Given the description of an element on the screen output the (x, y) to click on. 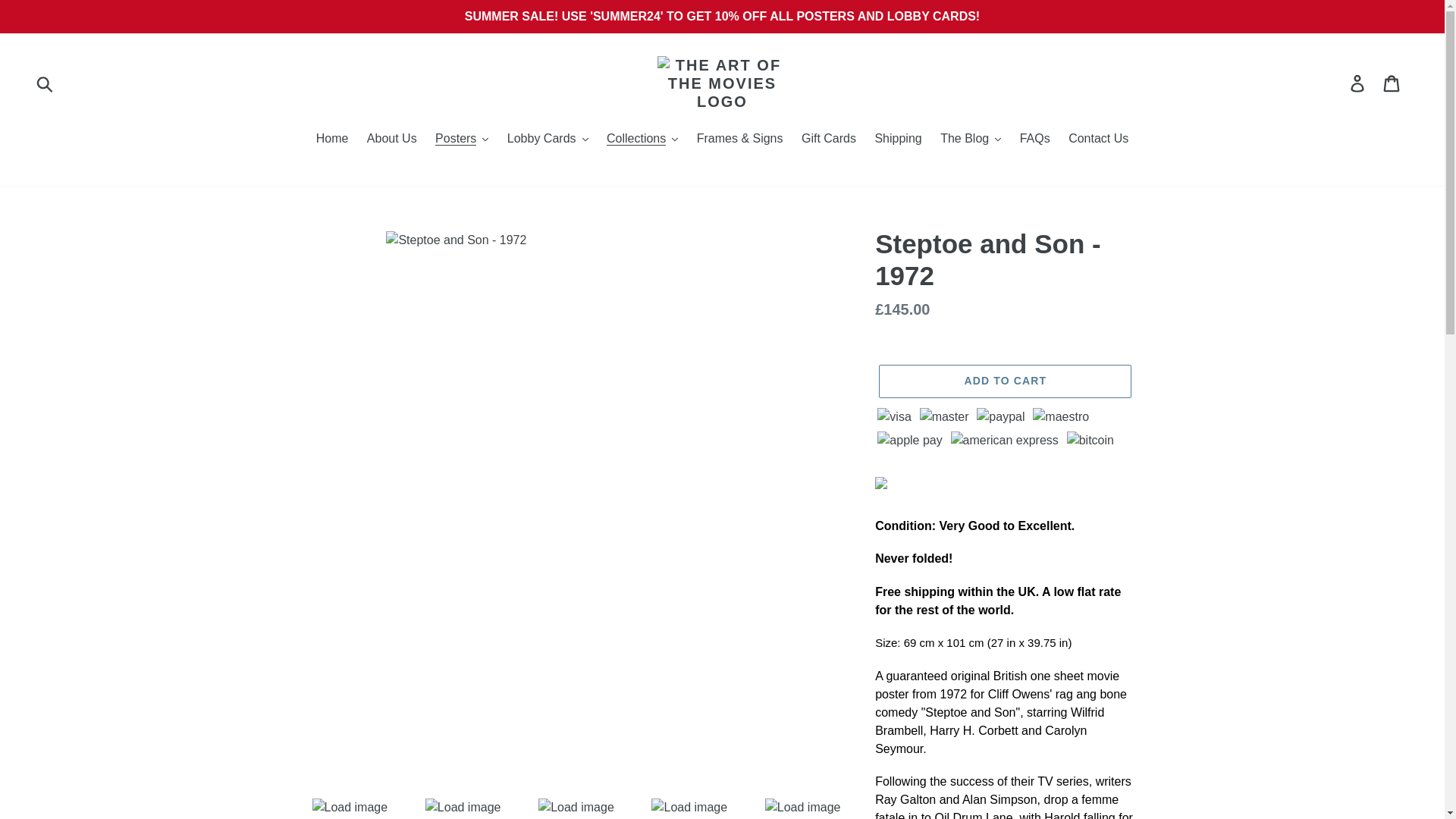
Submit (45, 82)
Cart (1392, 82)
Log in (1357, 82)
